Given the description of an element on the screen output the (x, y) to click on. 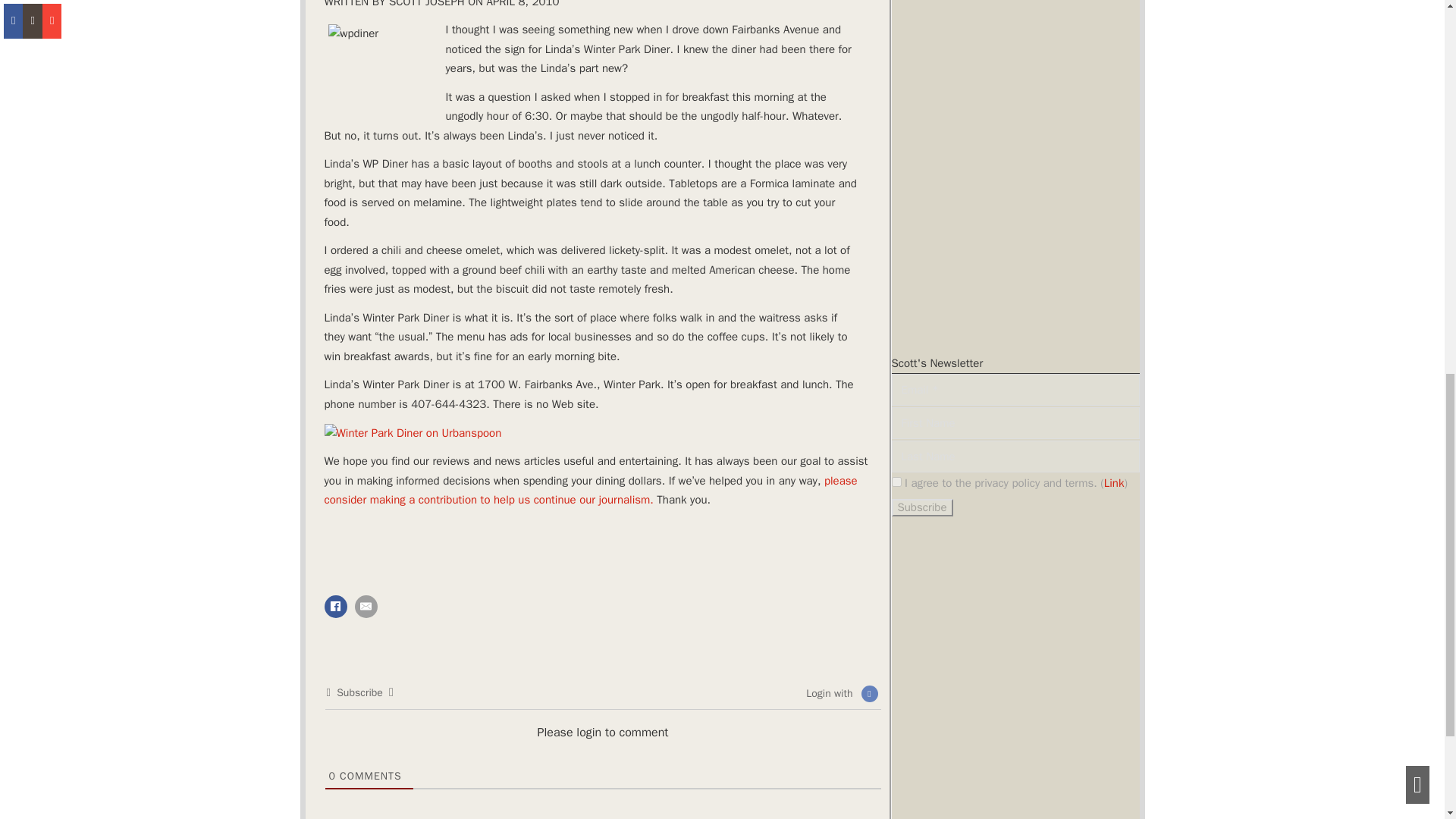
1 (896, 481)
Linda's Winter Park Diner (413, 433)
Linda's Winter Park Diner (384, 66)
Subscribe (922, 507)
